Given the description of an element on the screen output the (x, y) to click on. 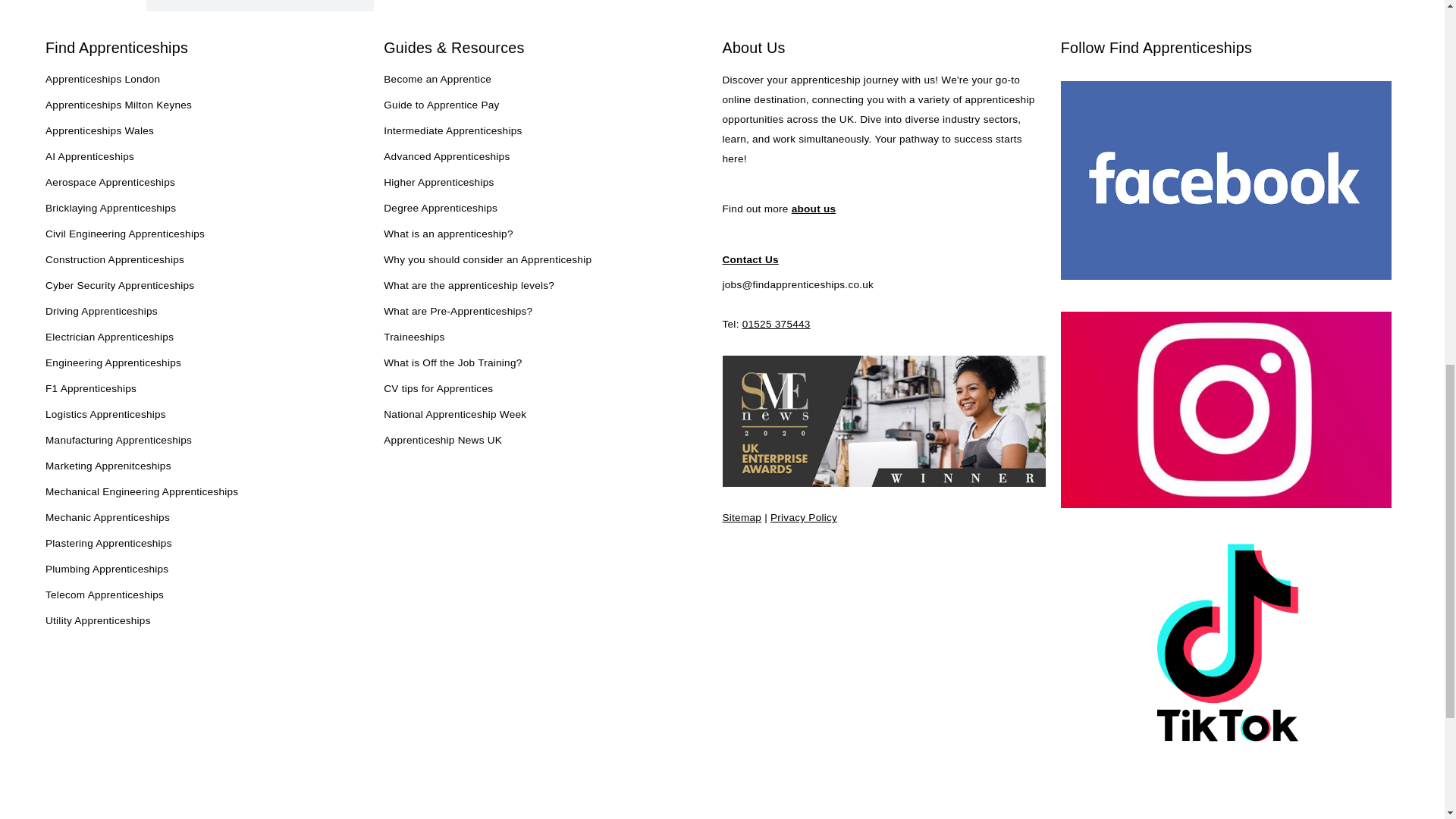
Apprenticeships Wales (99, 131)
Construction Apprenticeships (114, 260)
Cyber Security Apprenticeships (119, 286)
Apprenticeships London (102, 80)
Aerospace Apprenticeships (109, 183)
Bricklaying Apprenticeships (110, 209)
Civil Engineering Apprenticeships (125, 234)
AI Apprenticeships (89, 157)
Apprenticeships Milton Keynes (118, 106)
Driving Apprenticeships (101, 312)
